Given the description of an element on the screen output the (x, y) to click on. 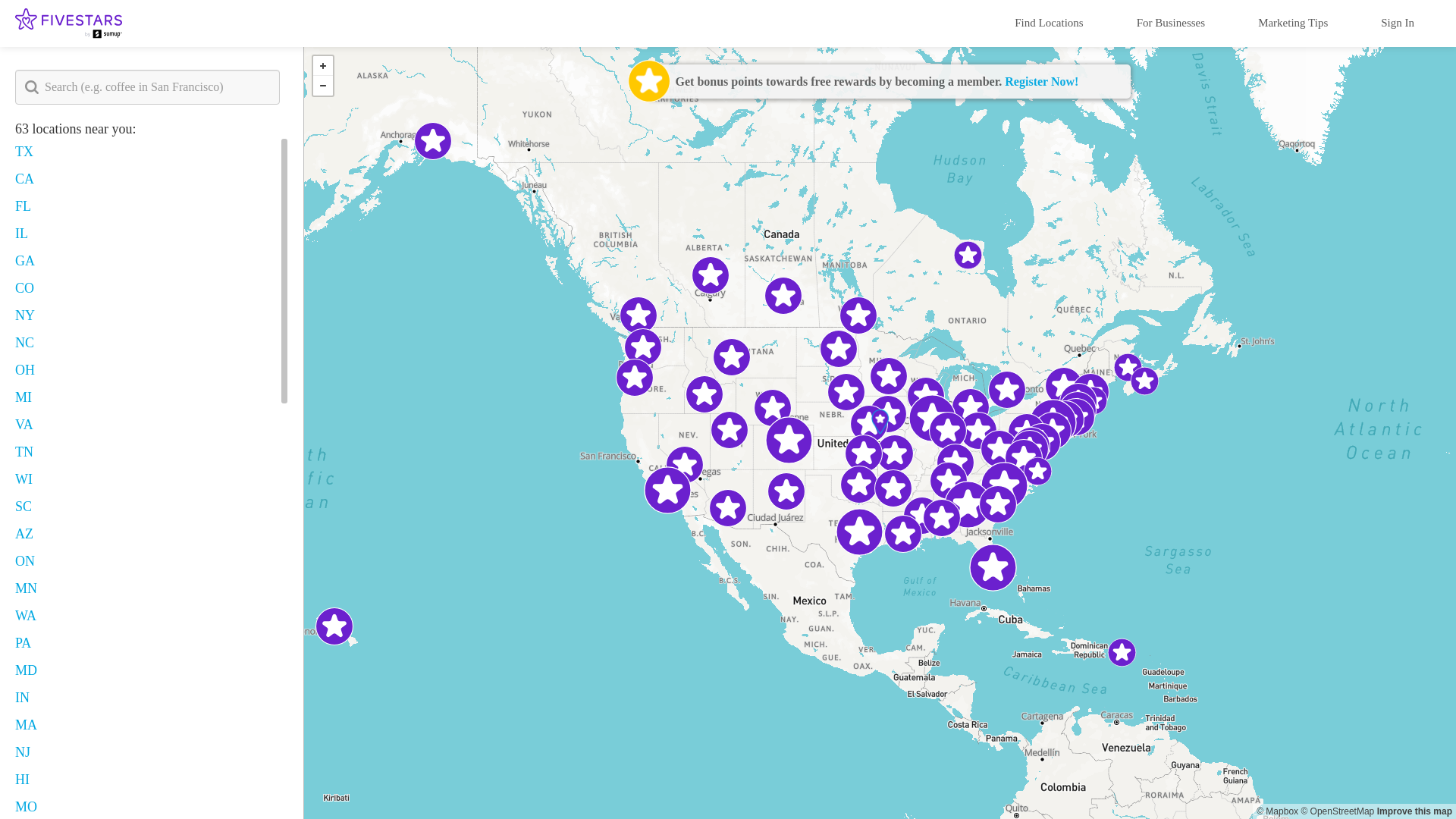
TN (23, 451)
Improve this map (1414, 810)
MI (23, 396)
IN (21, 697)
MD (25, 670)
PA (22, 642)
WA (25, 615)
IL (20, 233)
AZ (23, 533)
NJ (22, 752)
VA (23, 424)
GA (24, 260)
TX (23, 151)
WI (23, 478)
NY (24, 314)
